Given the description of an element on the screen output the (x, y) to click on. 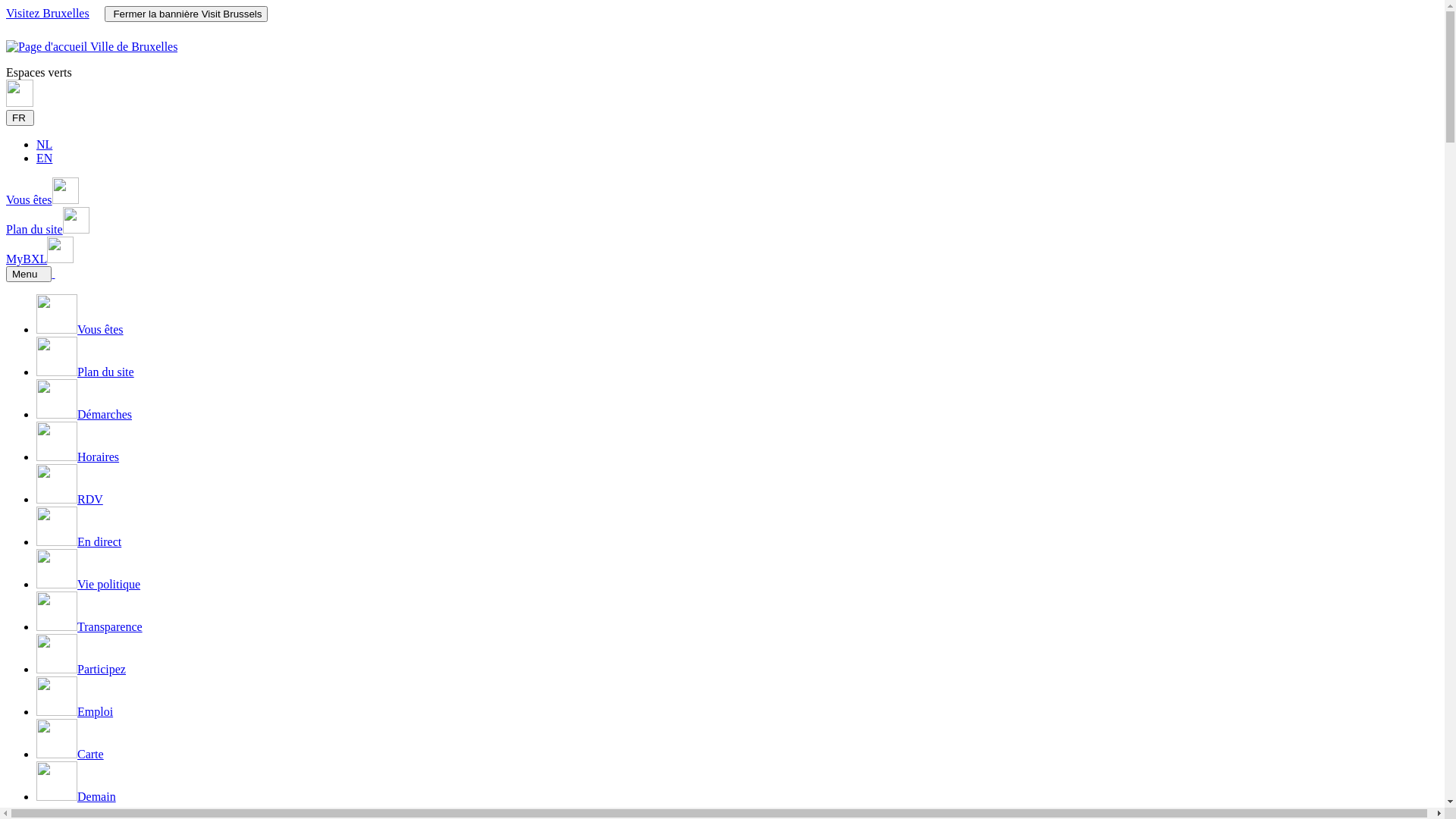
FR  Element type: text (20, 117)
Horaires Element type: text (77, 456)
Menu    Element type: text (28, 274)
En direct Element type: text (78, 541)
NL Element type: text (44, 144)
Visitez Bruxelles Element type: text (47, 12)
Transparence Element type: text (89, 626)
Plan du site Element type: text (85, 371)
RDV Element type: text (69, 498)
Demain Element type: text (76, 796)
Carte Element type: text (69, 753)
Participez Element type: text (80, 668)
EN Element type: text (44, 157)
Vie politique Element type: text (88, 583)
  Element type: text (52, 272)
Plan du site Element type: text (47, 228)
Emploi Element type: text (74, 711)
MyBXL Element type: text (39, 258)
